Given the description of an element on the screen output the (x, y) to click on. 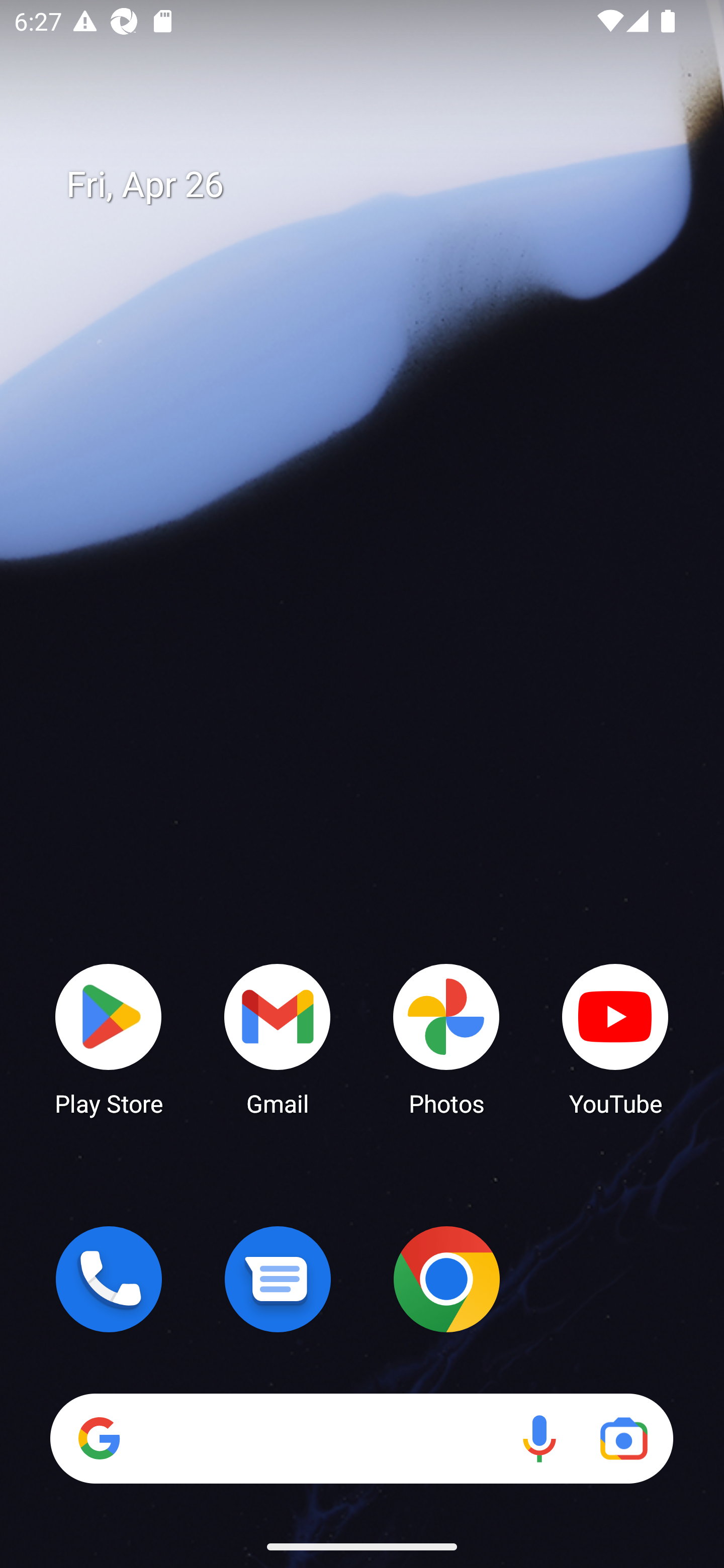
Fri, Apr 26 (375, 184)
Play Store (108, 1038)
Gmail (277, 1038)
Photos (445, 1038)
YouTube (615, 1038)
Phone (108, 1279)
Messages (277, 1279)
Chrome (446, 1279)
Search Voice search Google Lens (361, 1438)
Voice search (539, 1438)
Google Lens (623, 1438)
